Given the description of an element on the screen output the (x, y) to click on. 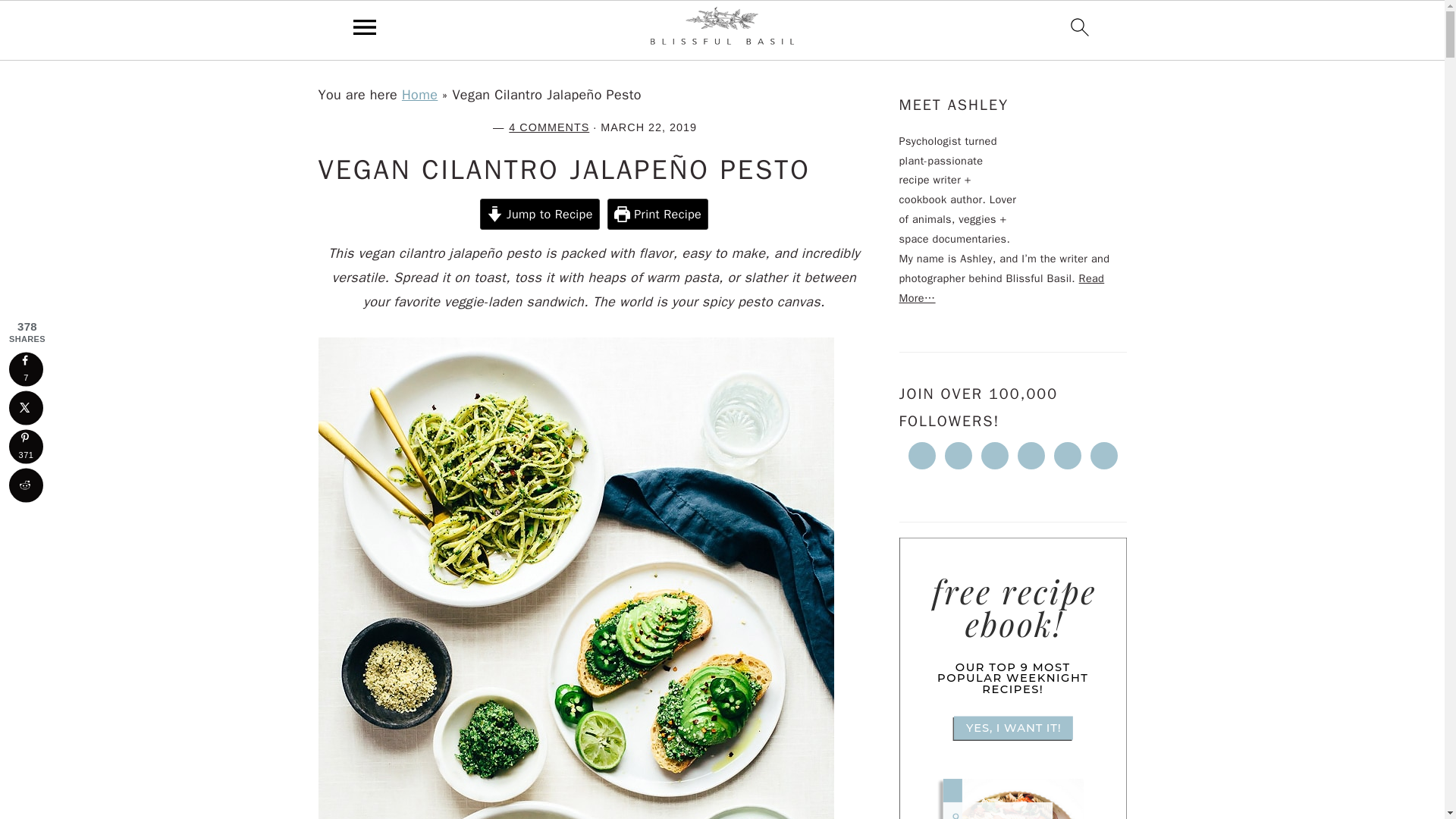
menu icon (365, 31)
Jump to Recipe (539, 214)
menu icon (365, 26)
Print Recipe (657, 214)
search icon (1080, 31)
4 COMMENTS (548, 127)
Save to Pinterest (25, 446)
Share on Facebook (25, 368)
Share on X (25, 407)
search icon (1080, 26)
Home (419, 94)
Share on Reddit (25, 484)
